Given the description of an element on the screen output the (x, y) to click on. 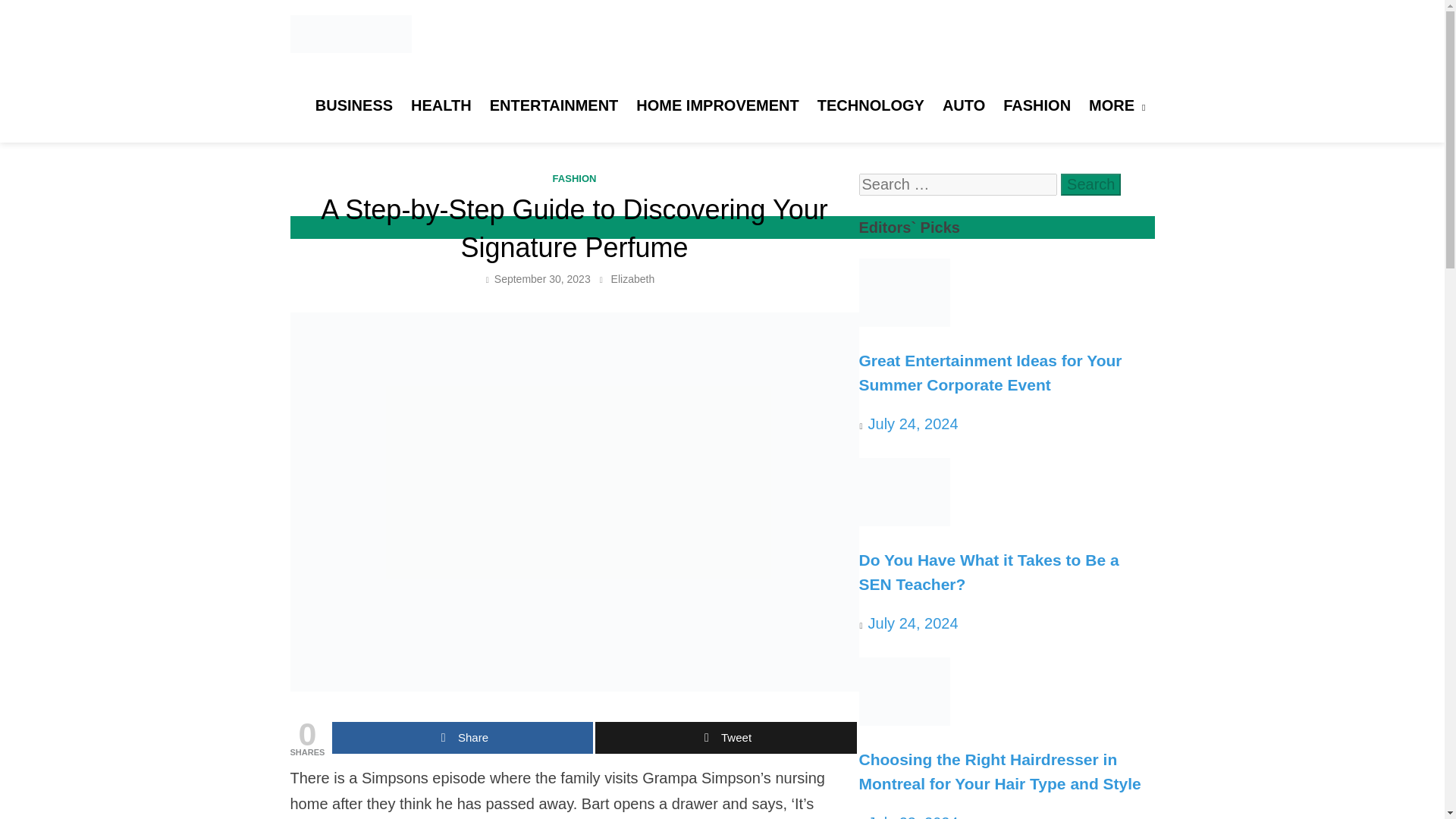
HOME IMPROVEMENT (717, 105)
HEALTH (440, 105)
ENTERTAINMENT (553, 105)
FASHION (574, 178)
September 30, 2023 (543, 278)
AUTO (963, 105)
Great Entertainment Ideas for Your Summer Corporate Event (904, 321)
Search (1091, 184)
Tweet (725, 737)
Share (461, 737)
Search (1091, 184)
BUSINESS (353, 105)
Do You Have What it Takes to Be a SEN Teacher? (904, 520)
FASHION (1037, 105)
